Given the description of an element on the screen output the (x, y) to click on. 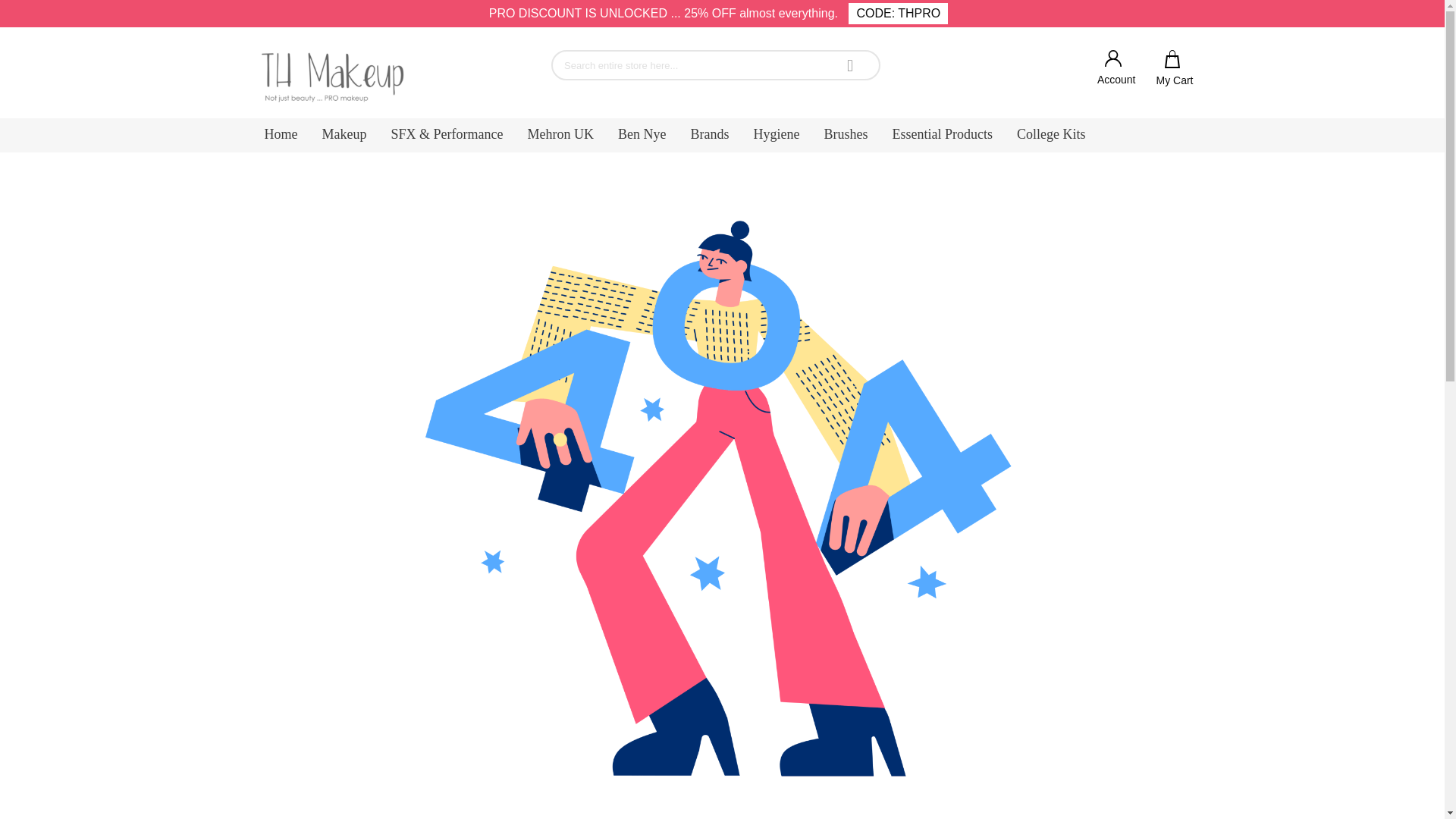
My Cart (1174, 68)
Treasure House of Makeup (332, 78)
Home (279, 134)
Skip to Content (736, 7)
Account (1116, 68)
Makeup (343, 134)
Home (279, 134)
Makeup (343, 134)
CODE: THPRO (897, 13)
